Given the description of an element on the screen output the (x, y) to click on. 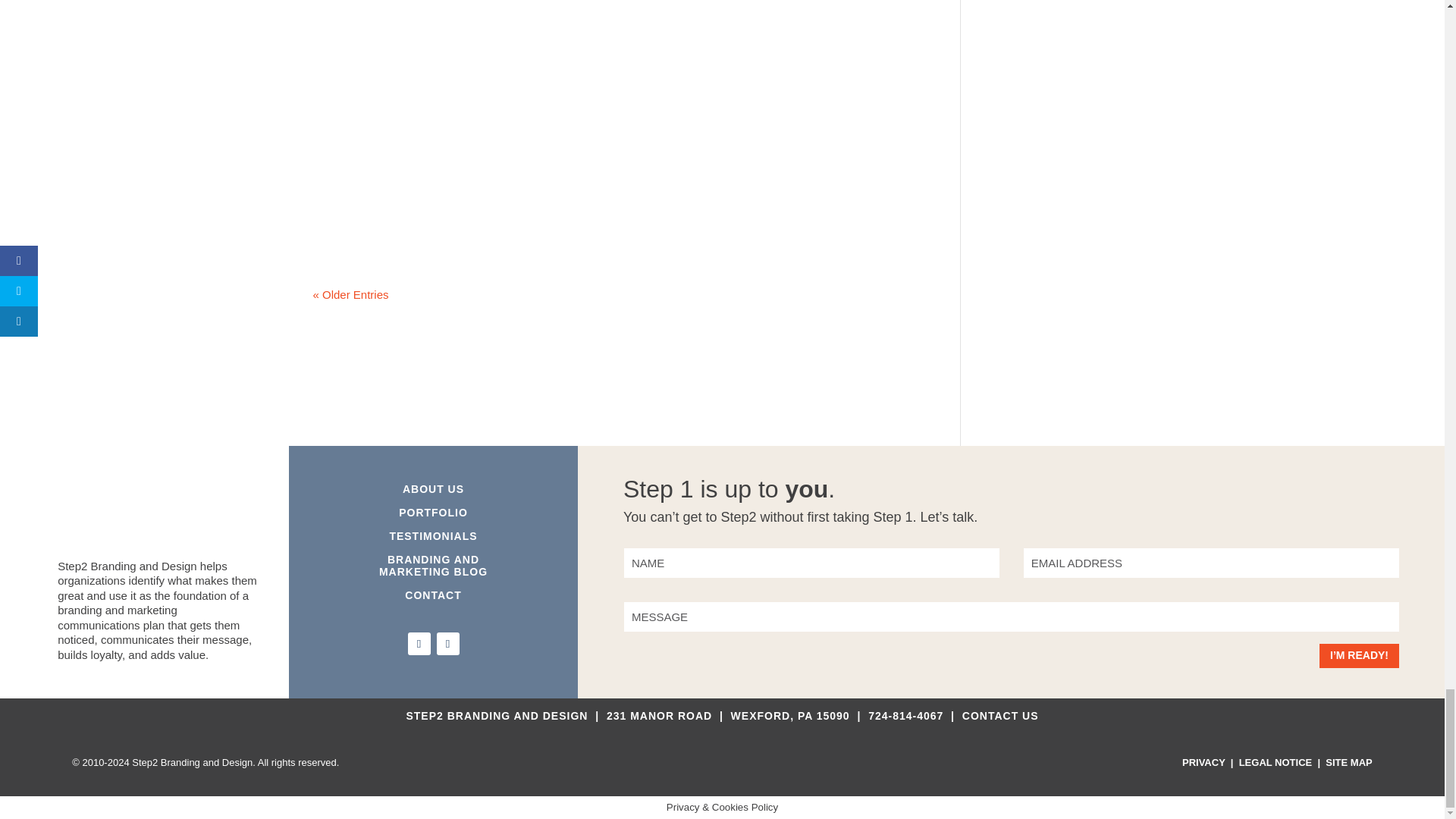
Follow on Facebook (418, 643)
Brand It to Be Its Best. (721, 762)
Step2 Branding and Design (159, 516)
Follow on LinkedIn (448, 643)
